Given the description of an element on the screen output the (x, y) to click on. 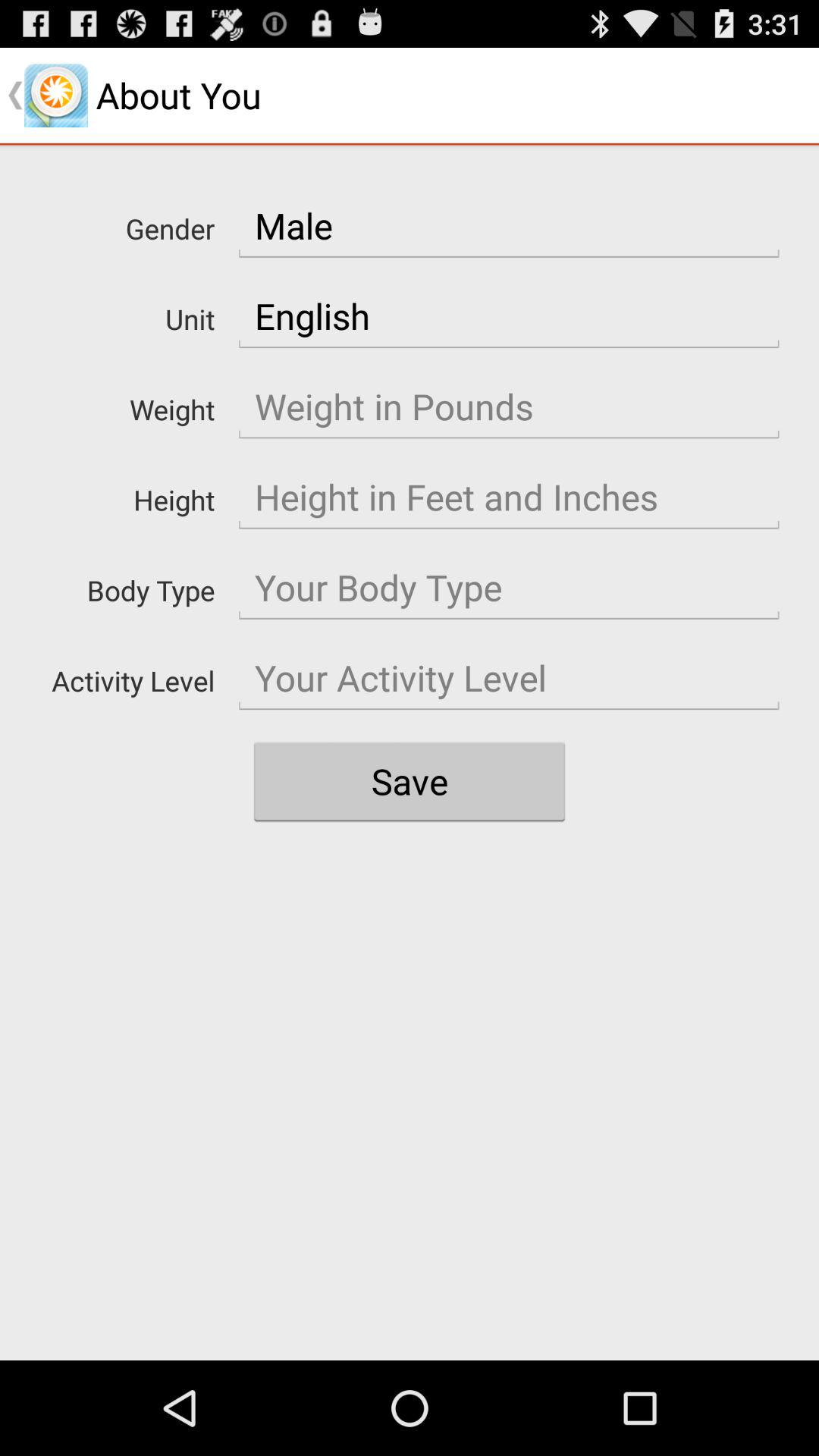
body size (508, 587)
